Given the description of an element on the screen output the (x, y) to click on. 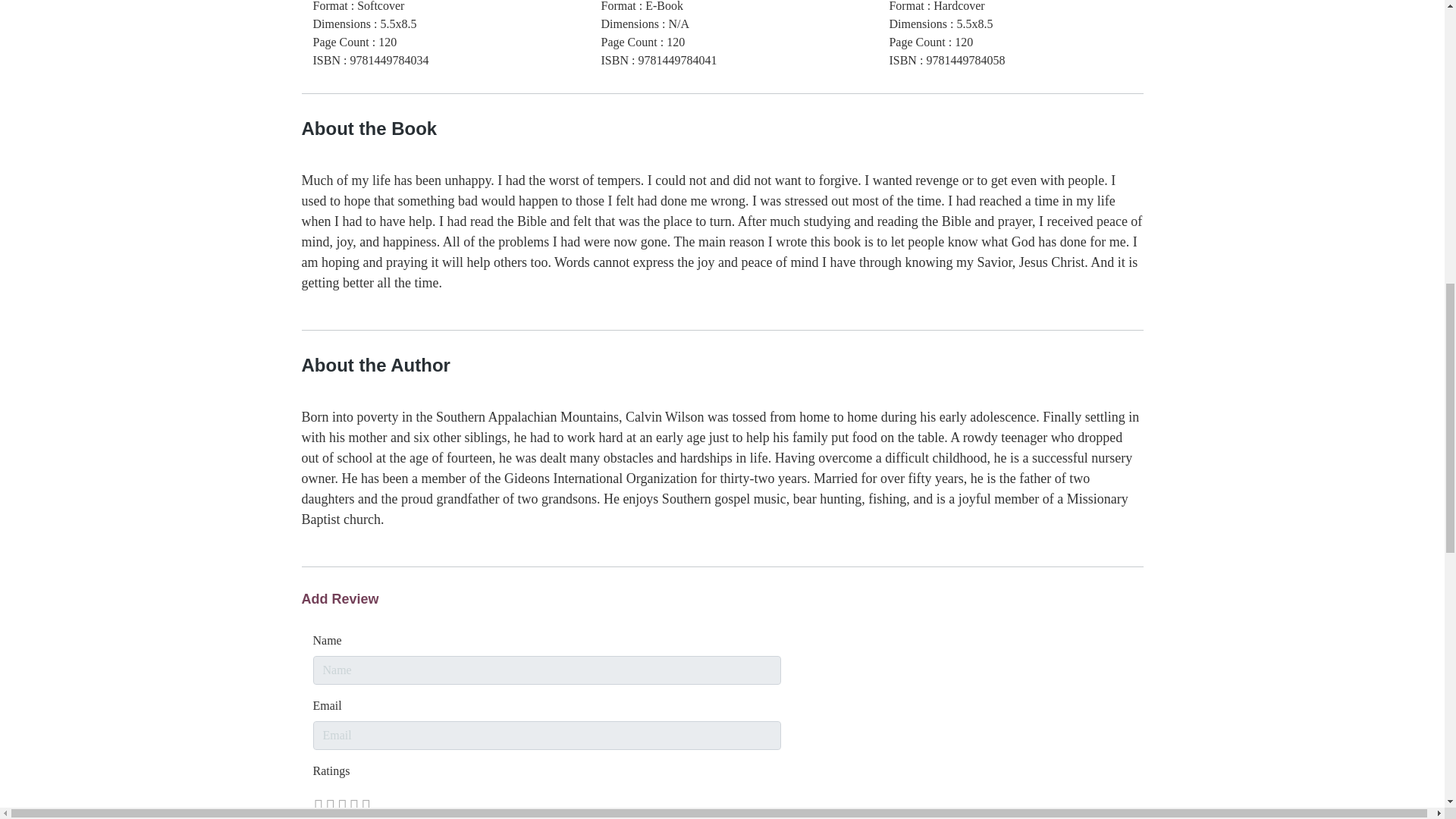
Not Rated (342, 804)
